Given the description of an element on the screen output the (x, y) to click on. 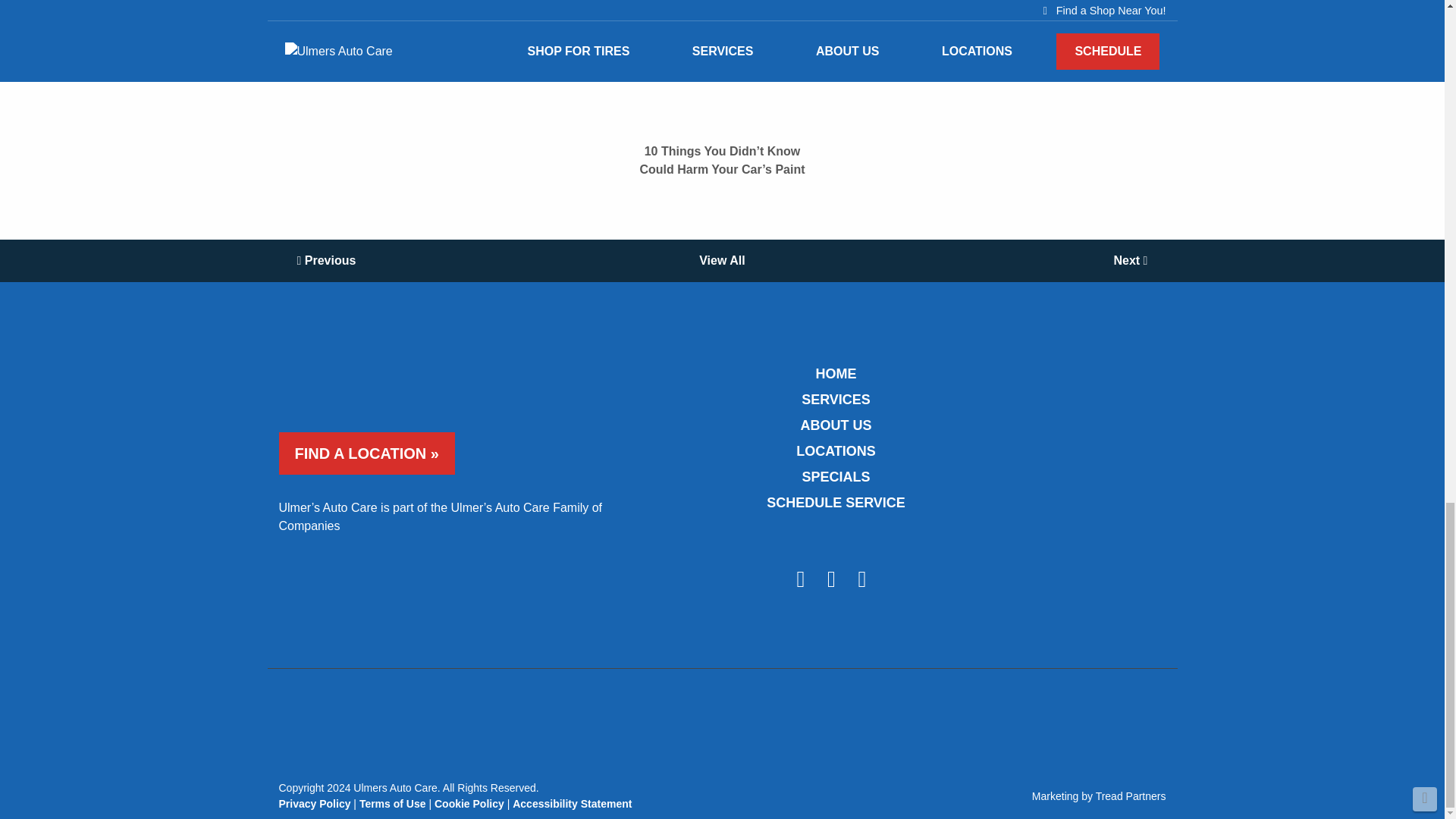
Social Media Link (864, 581)
Social Media Link (832, 581)
Best of the East, 2022 (1101, 578)
Terms of Use (392, 803)
Ulmers Auto Care (400, 373)
Best of the Best, 2022 (1101, 428)
Ulmers Auto Care (721, 60)
Find a Location Near You! (366, 453)
Privacy Policy (314, 803)
Social Media Link (802, 581)
